Given the description of an element on the screen output the (x, y) to click on. 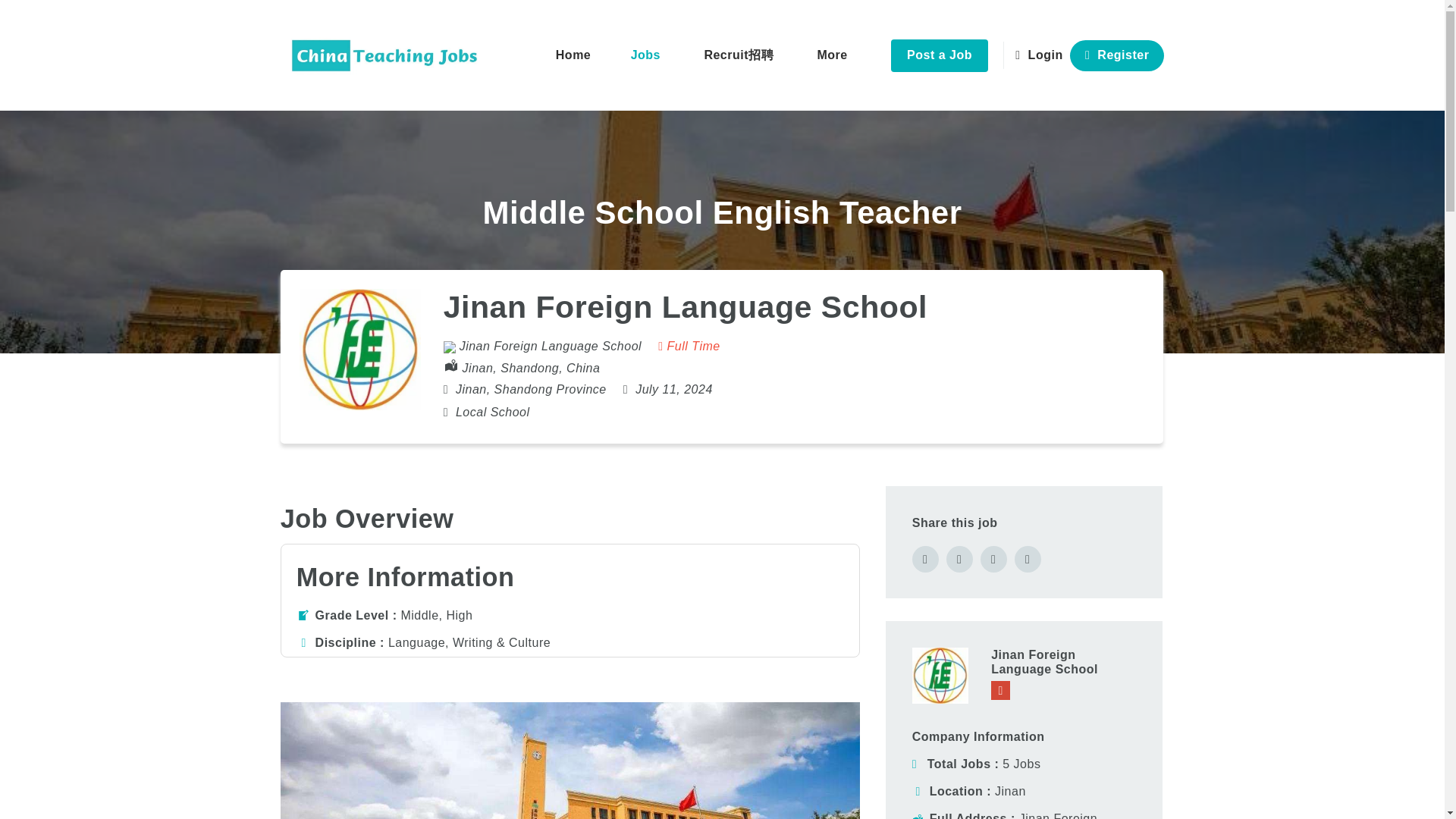
Teaching jobs in China for educators around the world (385, 54)
